Given the description of an element on the screen output the (x, y) to click on. 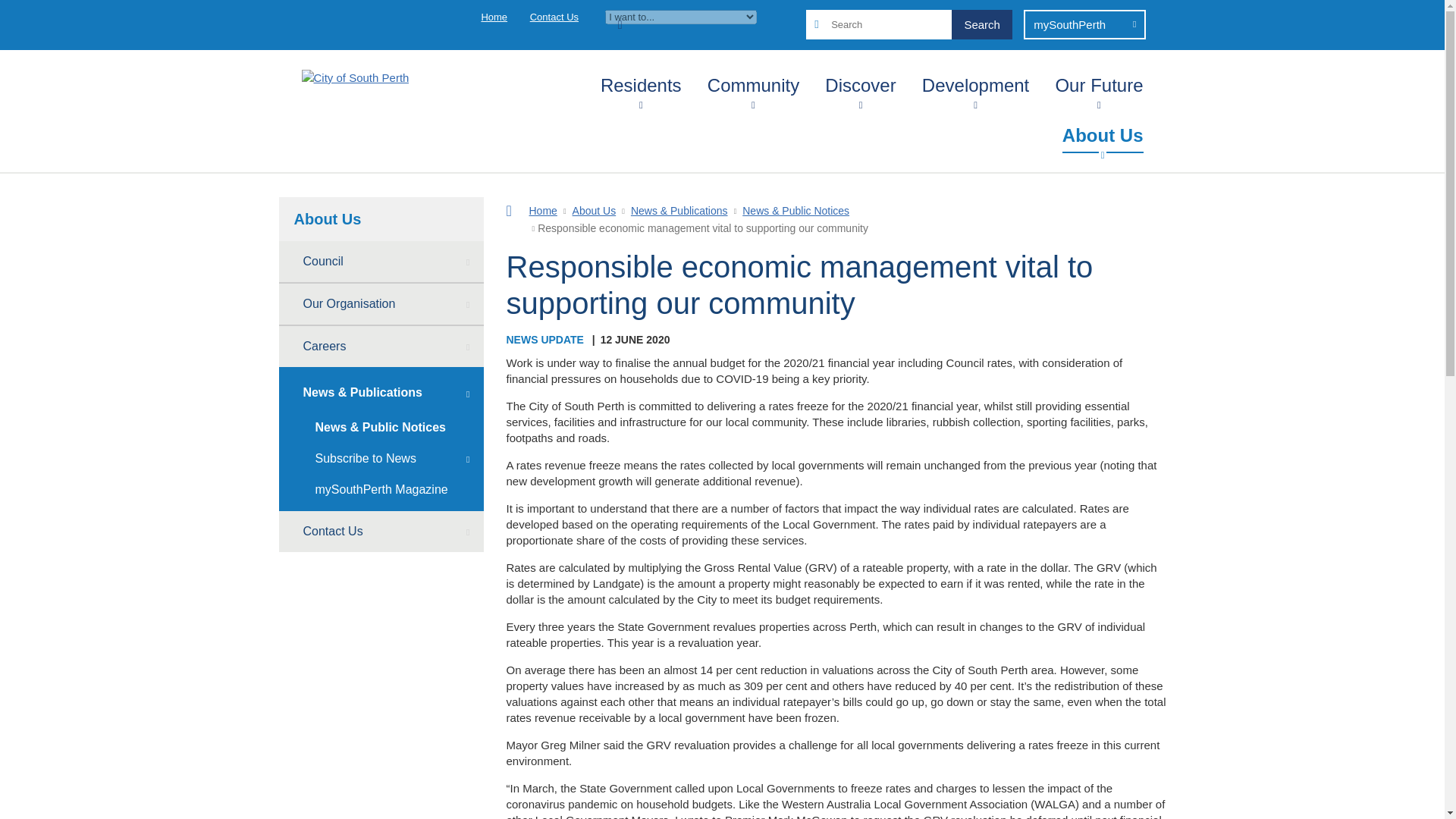
Search (981, 24)
Search input (908, 24)
Home (493, 17)
Contact Us (553, 17)
I want to... (681, 16)
mySouthPerth (1084, 24)
Residents (640, 82)
